Given the description of an element on the screen output the (x, y) to click on. 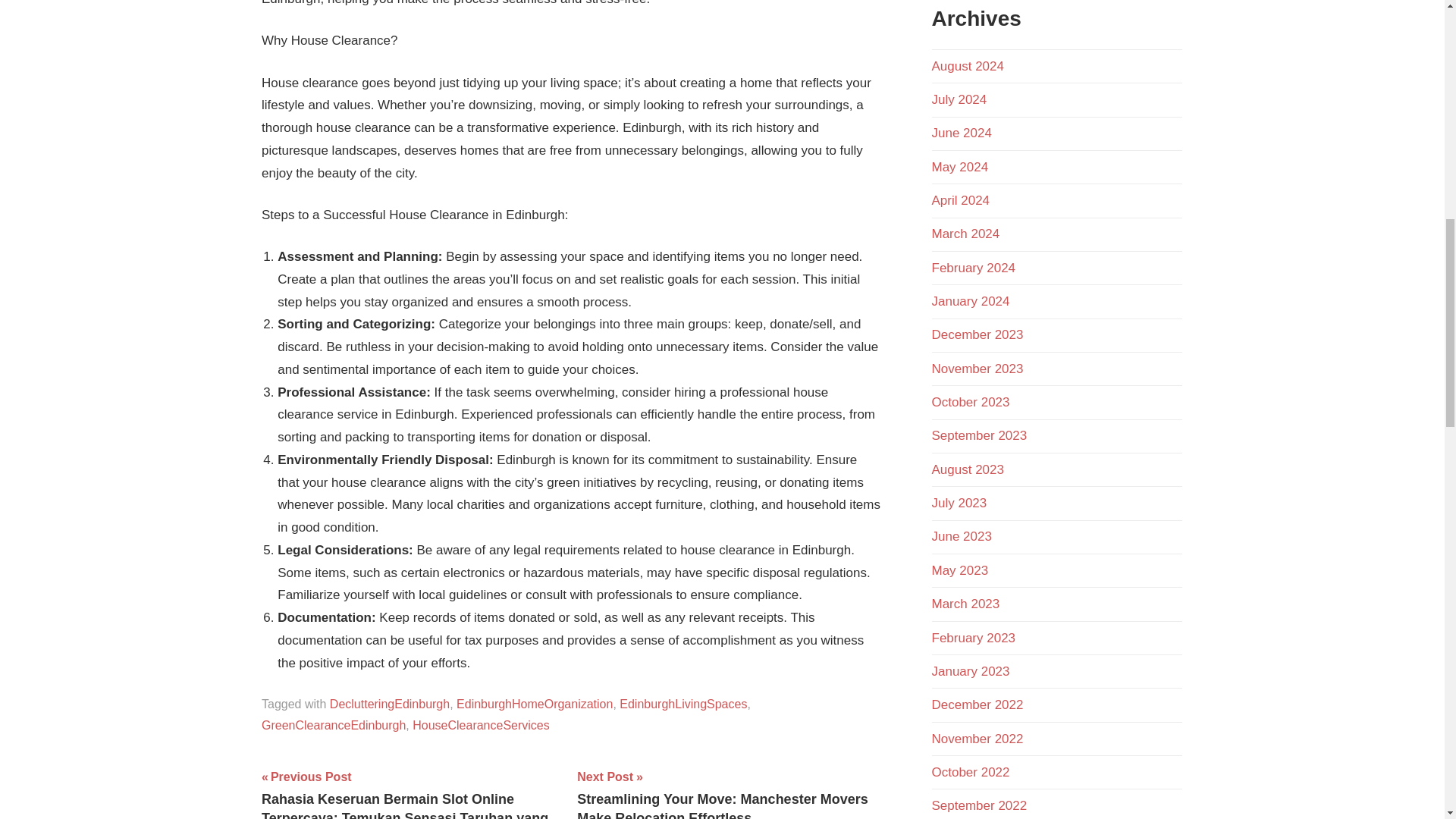
February 2023 (972, 637)
June 2023 (961, 536)
July 2023 (959, 503)
April 2024 (960, 200)
August 2023 (967, 469)
November 2023 (977, 368)
May 2024 (959, 166)
October 2023 (970, 401)
March 2023 (964, 603)
GreenClearanceEdinburgh (334, 725)
